Given the description of an element on the screen output the (x, y) to click on. 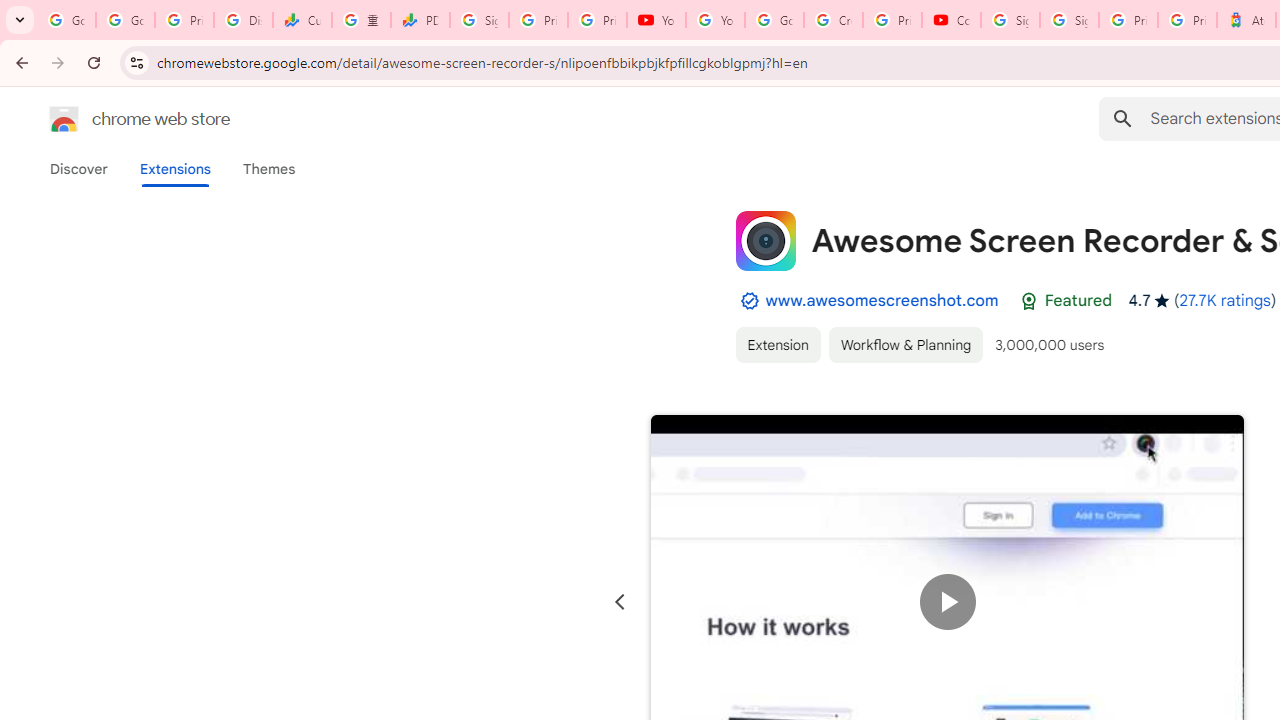
By Established Publisher Badge (749, 301)
Featured Badge (1028, 301)
Chrome Web Store logo chrome web store (118, 118)
Content Creator Programs & Opportunities - YouTube Creators (950, 20)
PDD Holdings Inc - ADR (PDD) Price & News - Google Finance (420, 20)
Item logo image for Awesome Screen Recorder & Screenshot (765, 240)
Item media 1 video (947, 601)
Sign in - Google Accounts (1069, 20)
